Given the description of an element on the screen output the (x, y) to click on. 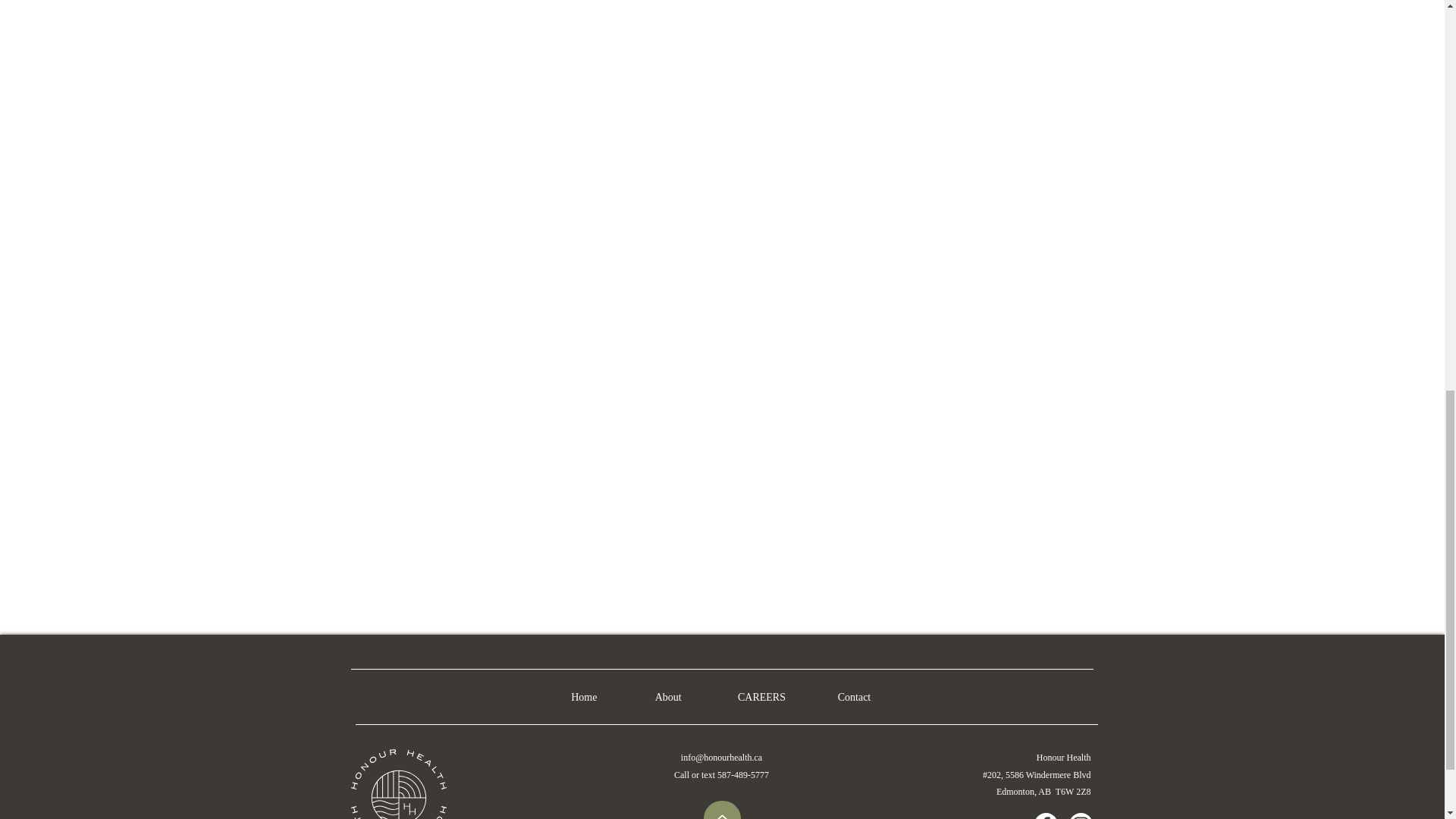
Home  (584, 696)
Contact (854, 696)
Call or text 587-489-5777 (721, 774)
About  (669, 696)
